Given the description of an element on the screen output the (x, y) to click on. 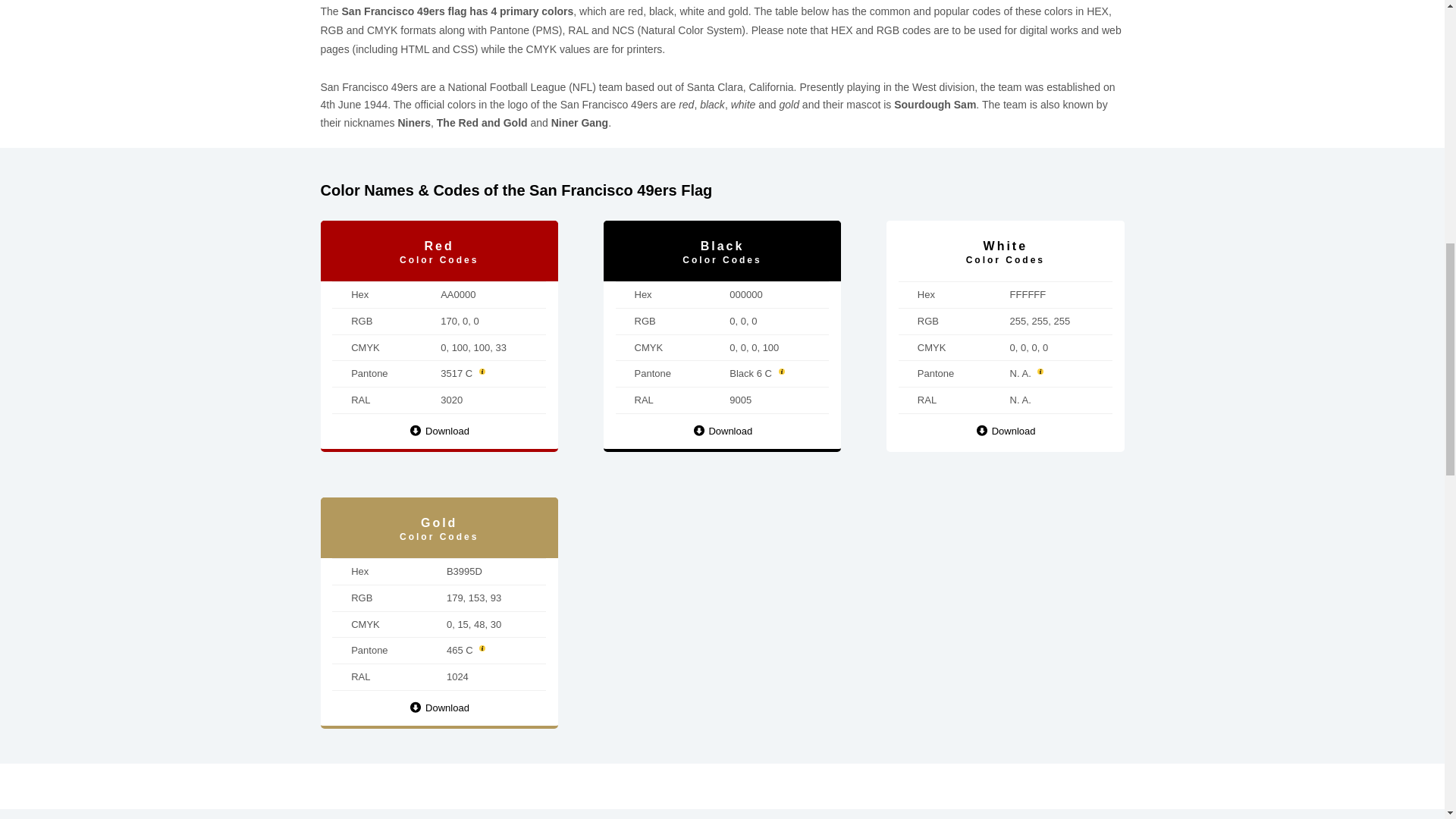
San Francisco 49ers Flag Gold Color Info Image (438, 707)
San Francisco 49ers Flag Black Color Info Image (722, 431)
Download (438, 707)
San Francisco 49ers Flag White Color Info Image (1005, 431)
Download (438, 431)
Download (1005, 431)
Download (722, 431)
San Francisco 49ers Flag Red Color Info Image (438, 431)
